Given the description of an element on the screen output the (x, y) to click on. 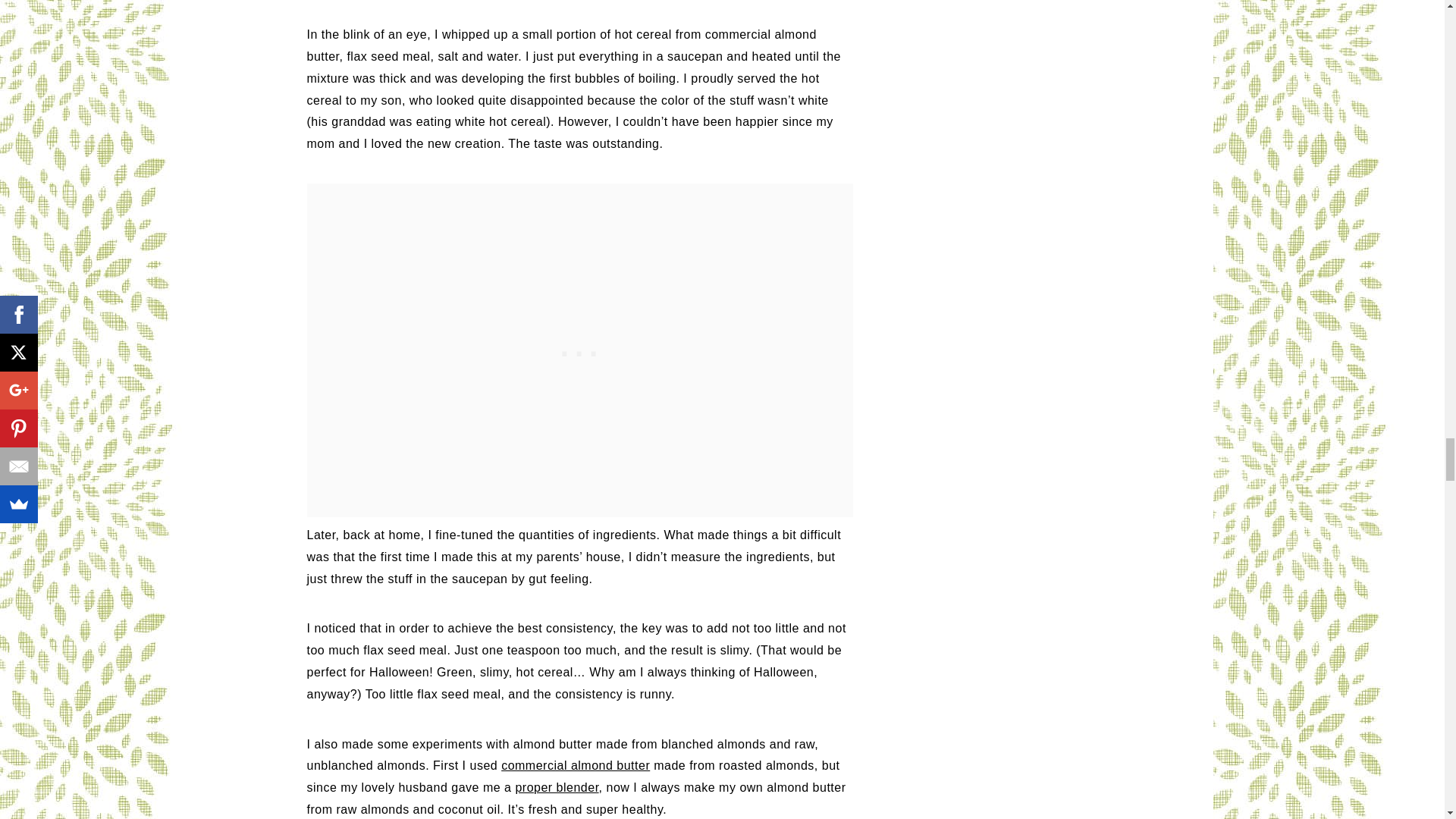
commercial almond butter (574, 765)
Blendtec Blender (556, 787)
Justin's Almond Butter (574, 765)
